Given the description of an element on the screen output the (x, y) to click on. 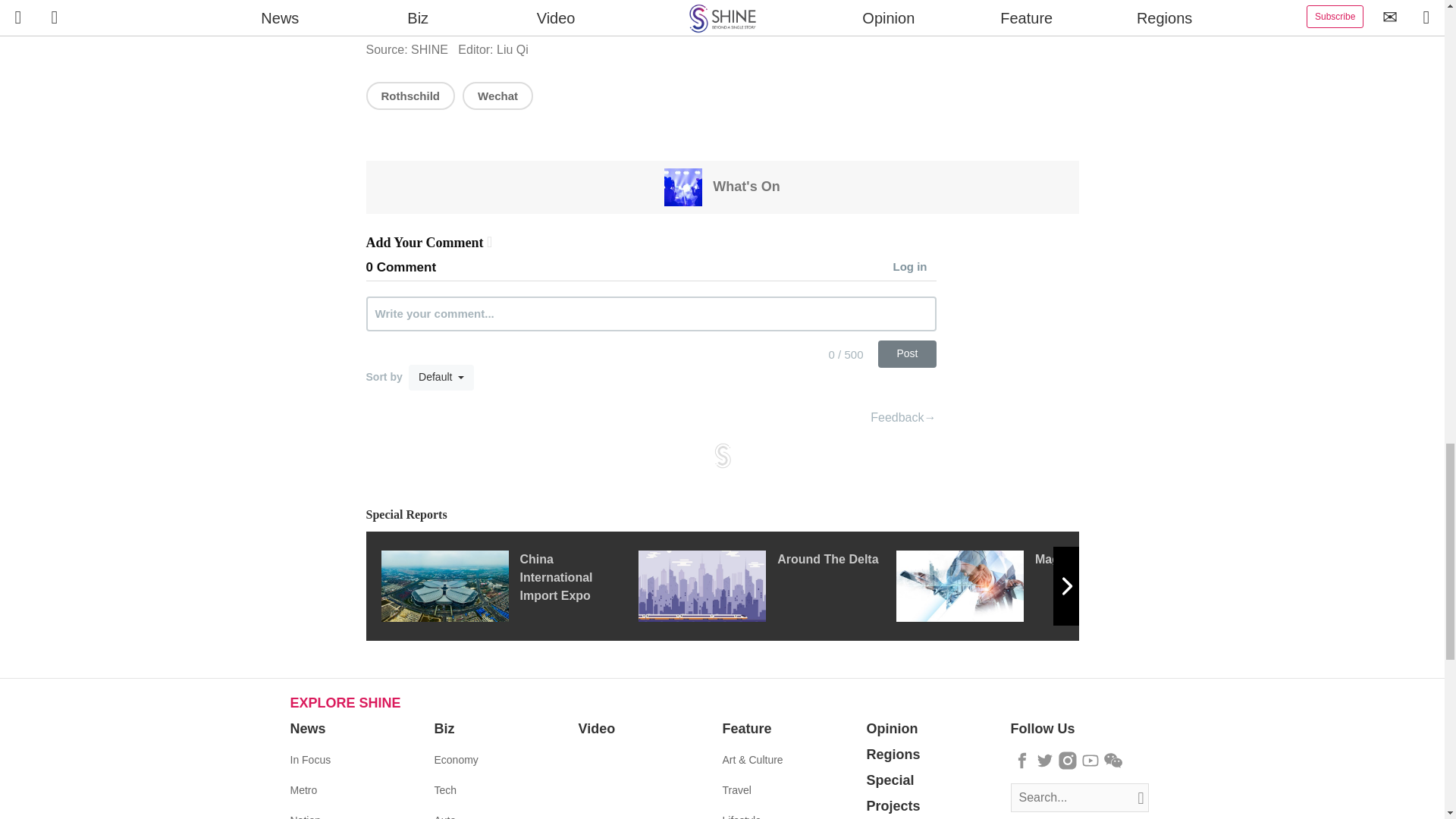
What's On (720, 186)
Special Reports (721, 515)
Log in (914, 267)
Default   (441, 377)
Wechat (497, 95)
Rothschild (409, 95)
